Given the description of an element on the screen output the (x, y) to click on. 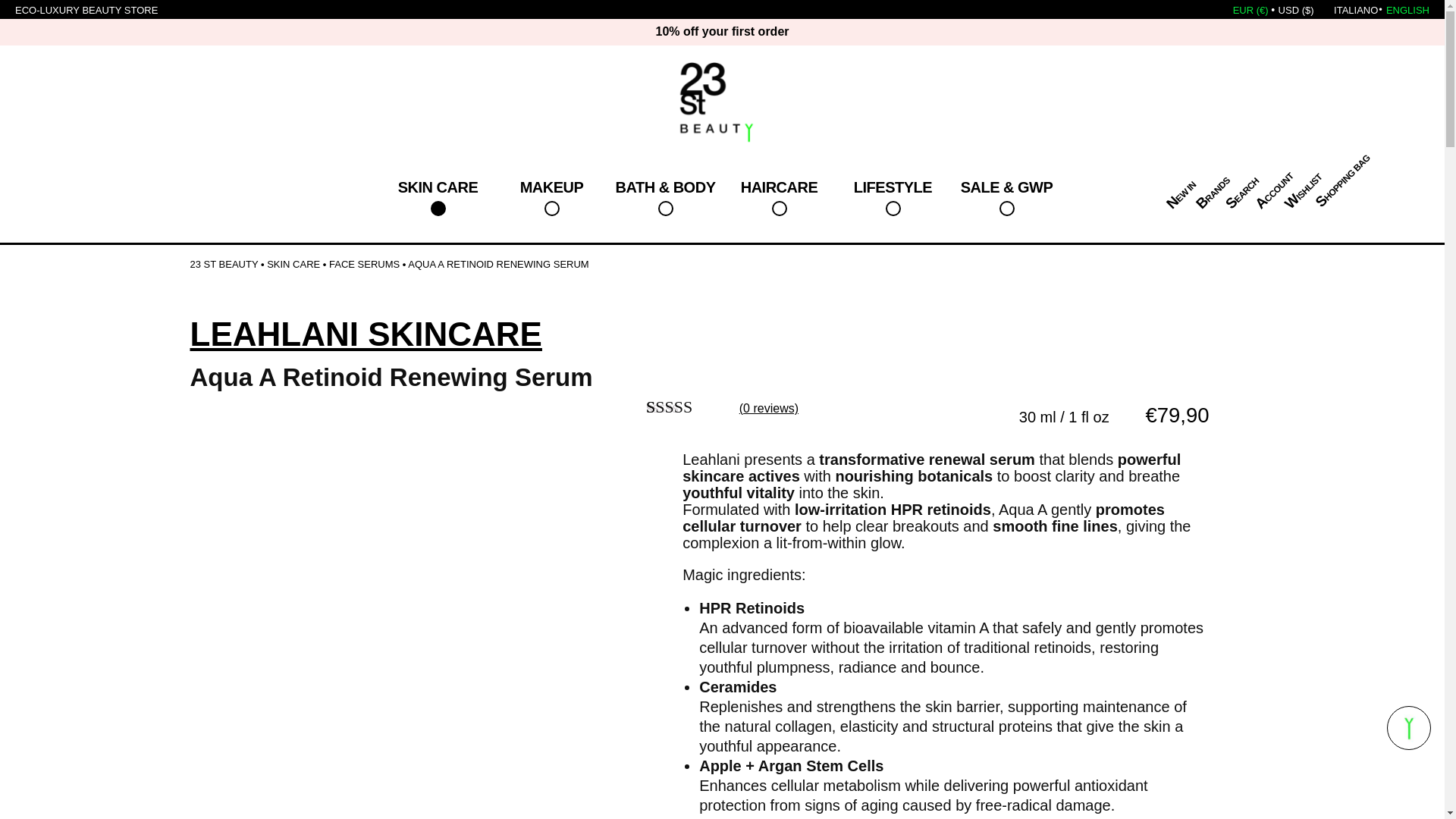
MAKEUP (551, 197)
ENGLISH (1407, 9)
ITALIANO (1355, 9)
SKIN CARE (437, 197)
